Given the description of an element on the screen output the (x, y) to click on. 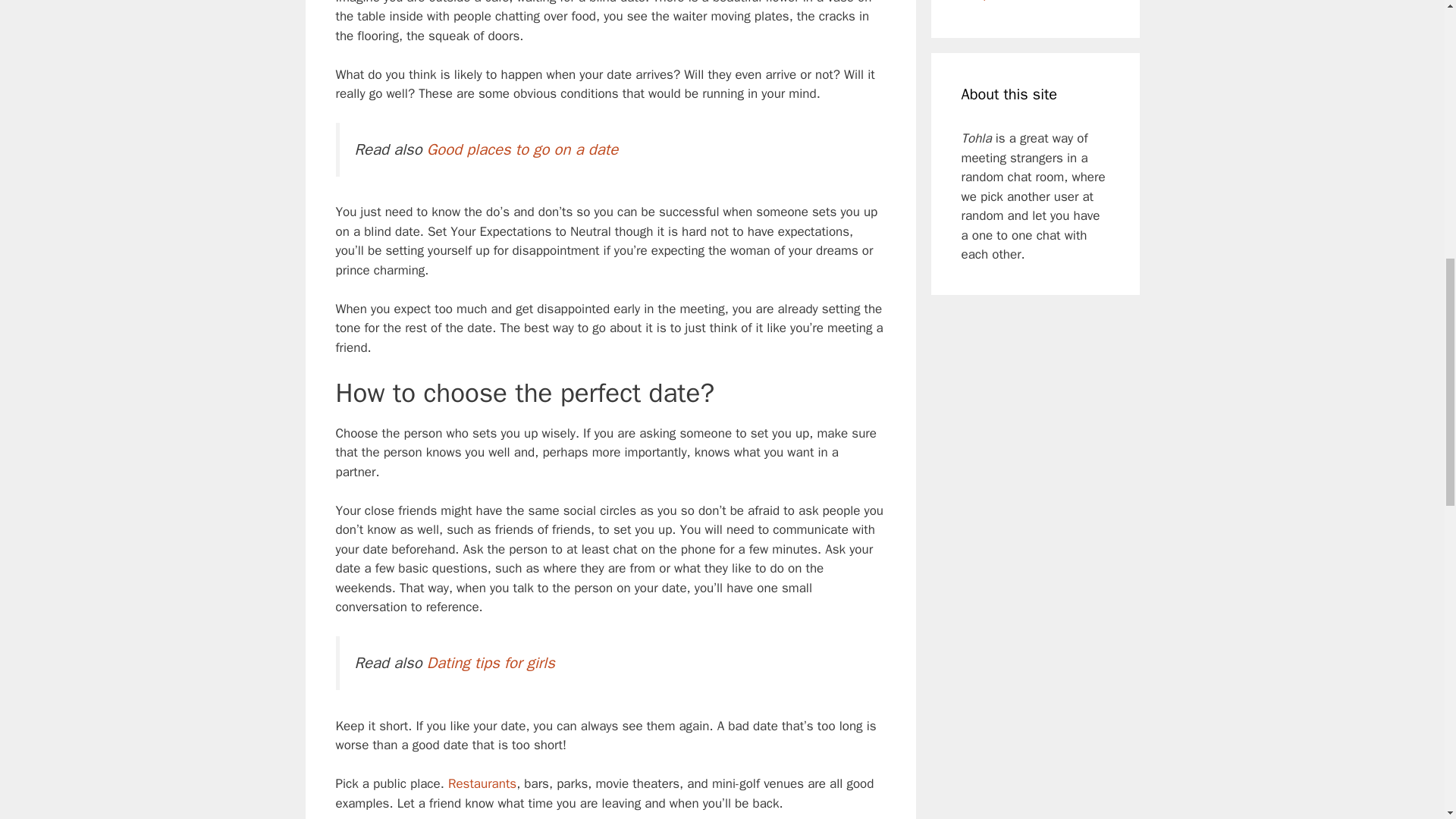
Good places to go on a date (521, 148)
Restaurants (482, 783)
Dating tips for girls (490, 662)
